Given the description of an element on the screen output the (x, y) to click on. 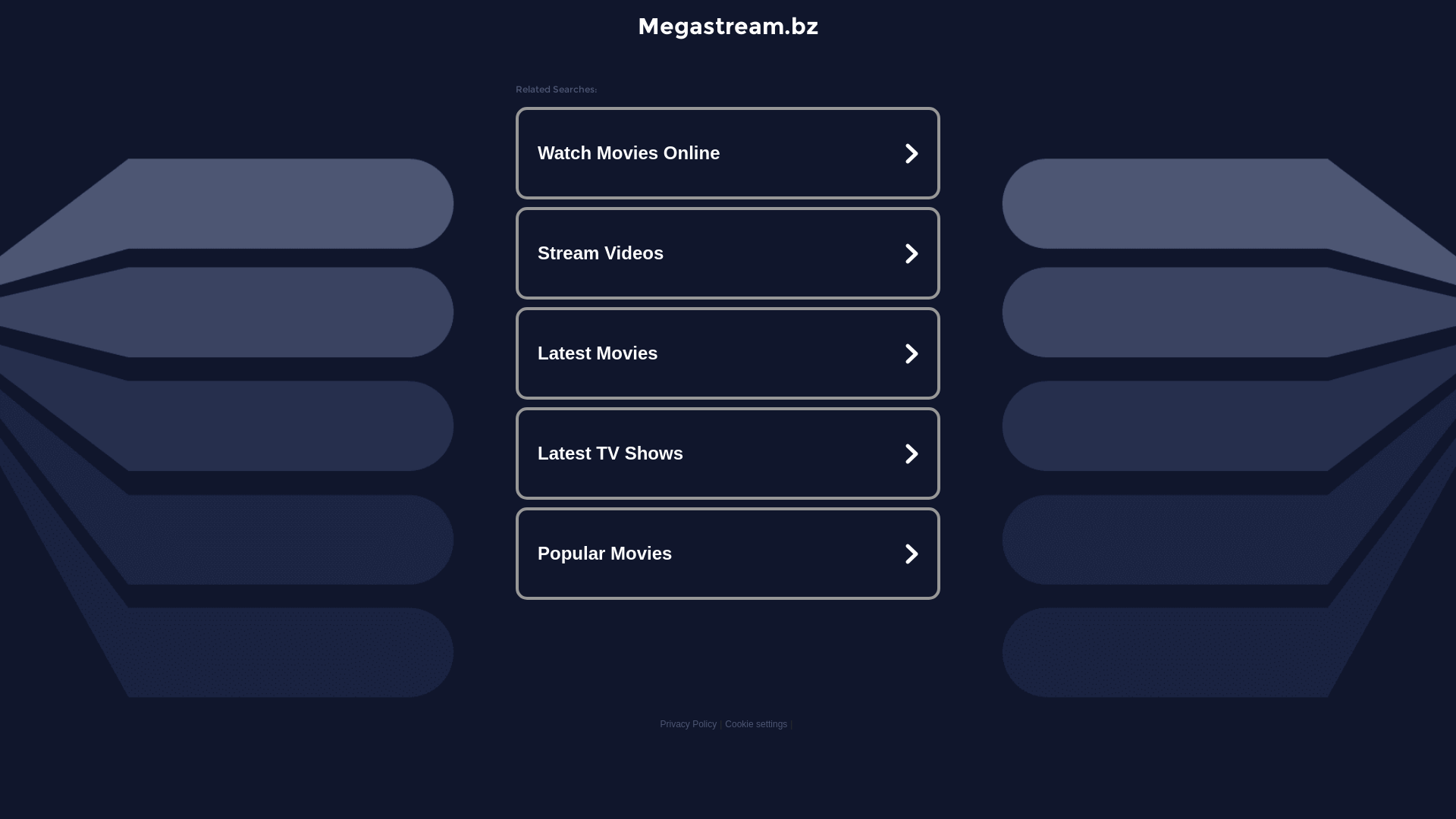
Stream Videos Element type: text (727, 253)
Latest TV Shows Element type: text (727, 453)
Popular Movies Element type: text (727, 553)
Latest Movies Element type: text (727, 353)
Watch Movies Online Element type: text (727, 152)
Privacy Policy Element type: text (687, 723)
Cookie settings Element type: text (755, 723)
Megastream.bz Element type: text (727, 26)
